Given the description of an element on the screen output the (x, y) to click on. 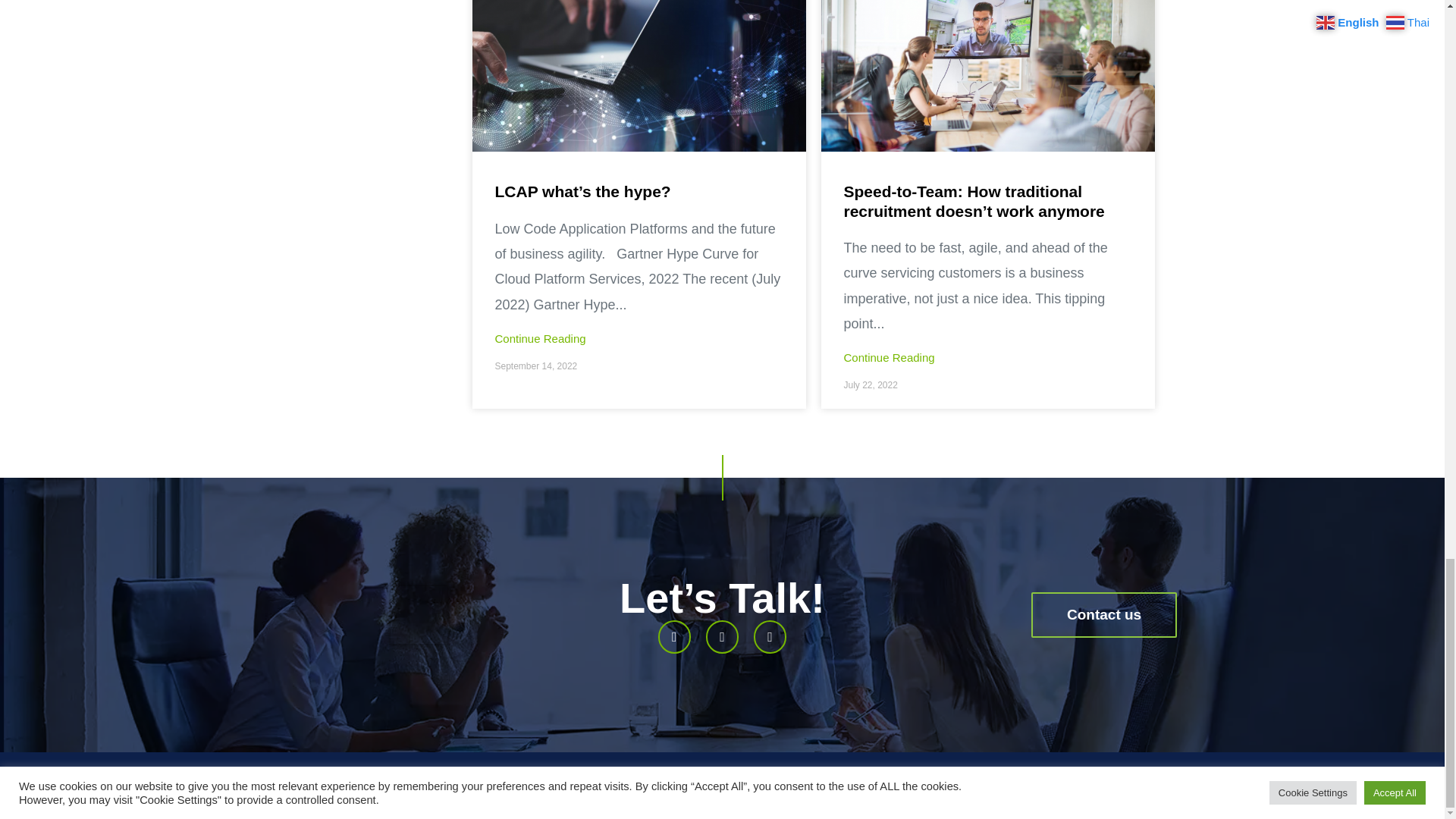
3:44 AM (535, 366)
3:40 AM (869, 385)
